Given the description of an element on the screen output the (x, y) to click on. 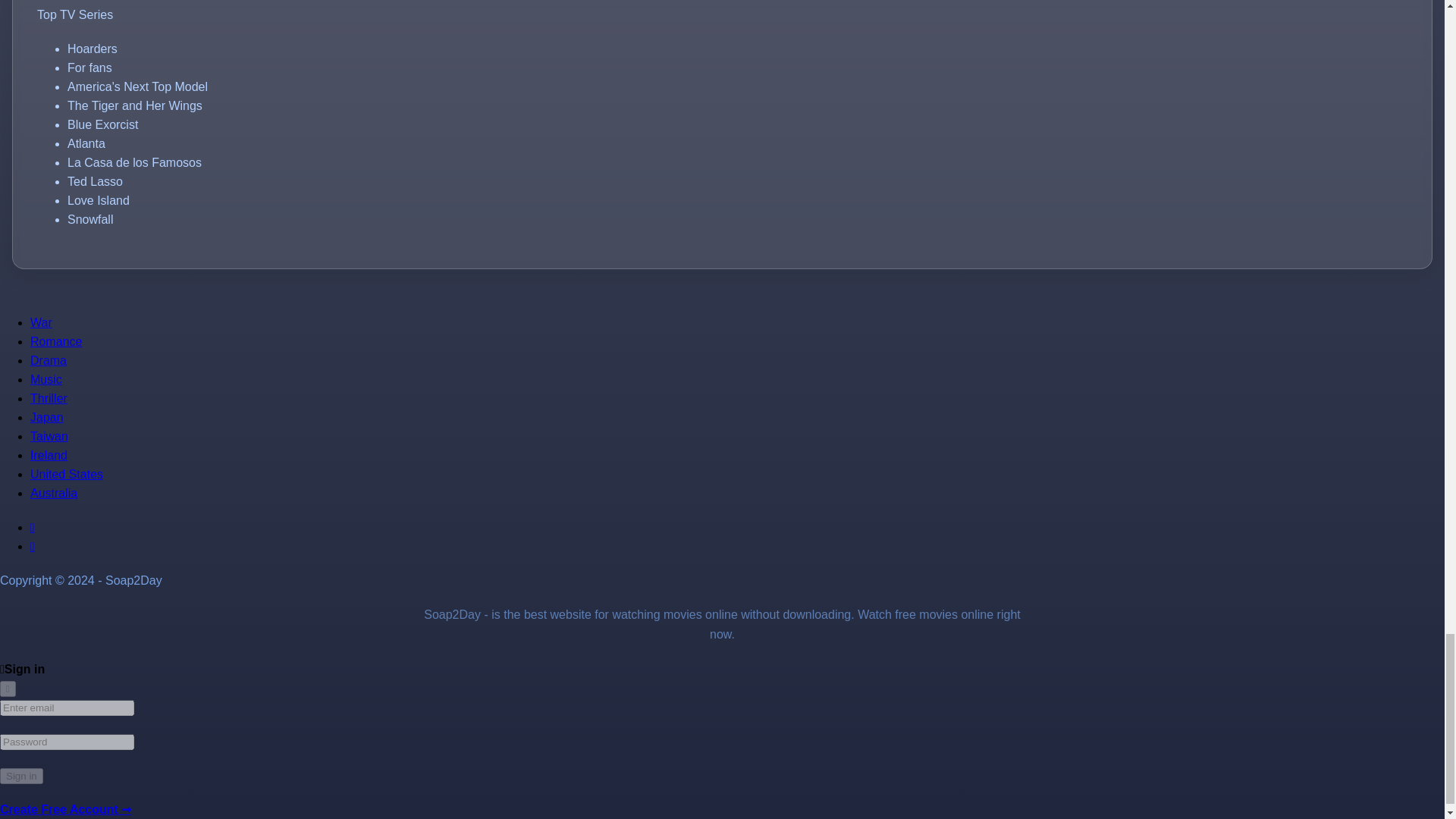
Taiwan (49, 436)
Ireland (48, 454)
Music (46, 379)
Romance (55, 341)
Drama (48, 359)
United States (66, 473)
War (41, 322)
Japan (47, 417)
Thriller (48, 398)
Australia (53, 492)
